Given the description of an element on the screen output the (x, y) to click on. 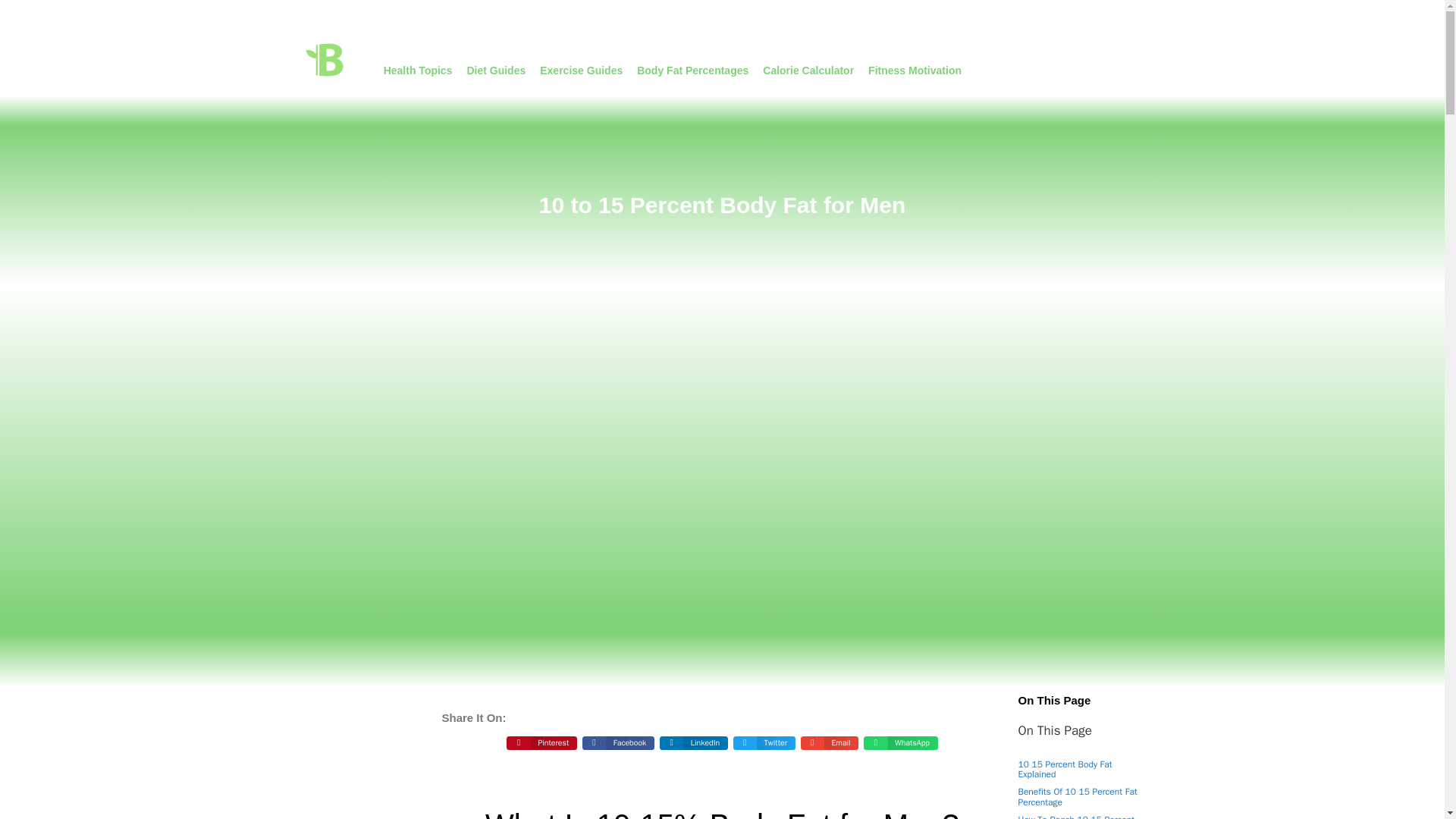
Exercise Guides (580, 70)
Lose Weight With Be weight loss Beweightloss (324, 59)
Health Topics (417, 70)
Calorie Calculator (807, 70)
Diet Guides (495, 70)
Fitness Motivation (914, 70)
Body Fat Percentages (692, 70)
